Given the description of an element on the screen output the (x, y) to click on. 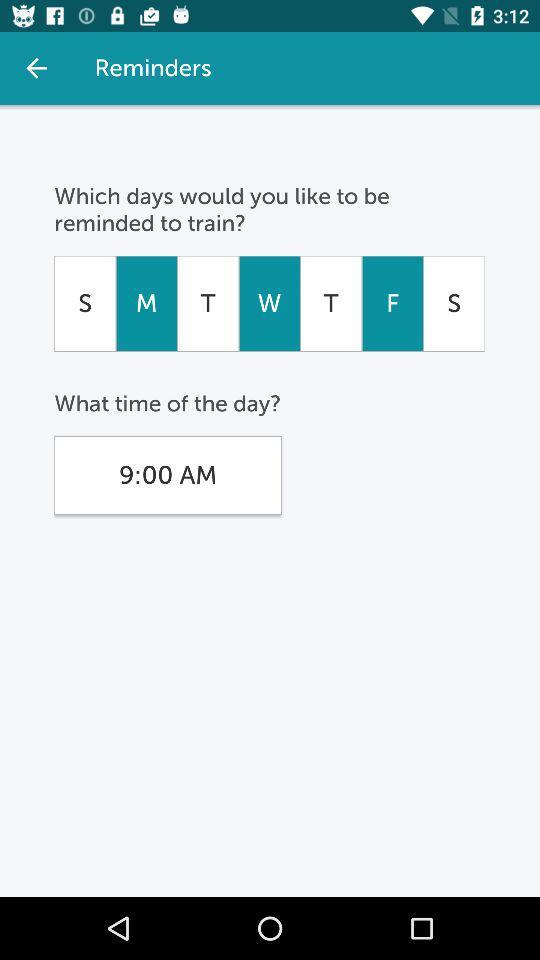
swipe until the 9:00 am item (167, 475)
